Given the description of an element on the screen output the (x, y) to click on. 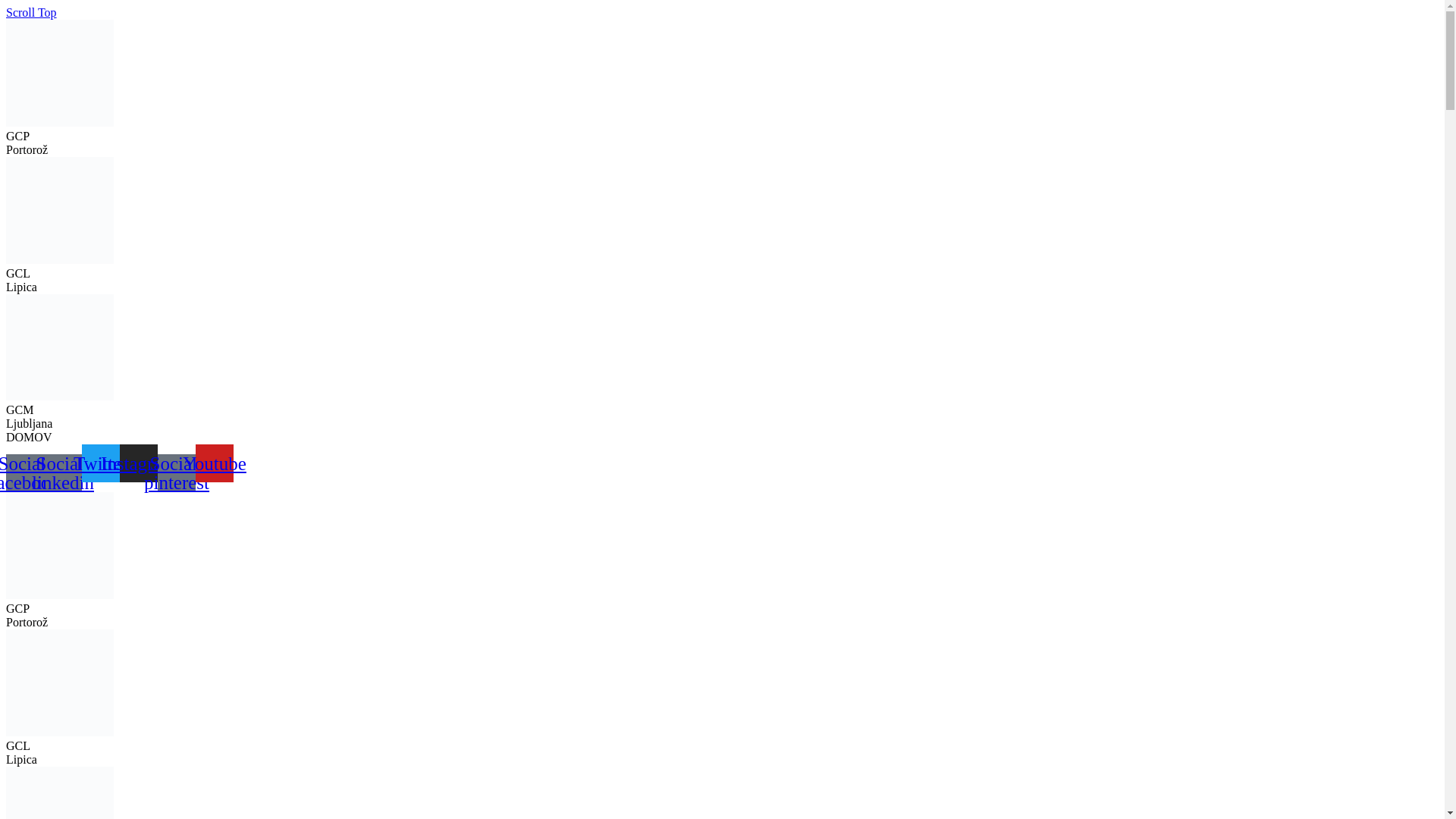
Social-facebook (24, 472)
Scroll Top (30, 11)
Social-pinterest (176, 472)
Social-linkedin (62, 472)
Instagram (138, 463)
Scroll Top (30, 11)
Twitter (100, 463)
Youtube (213, 463)
